Given the description of an element on the screen output the (x, y) to click on. 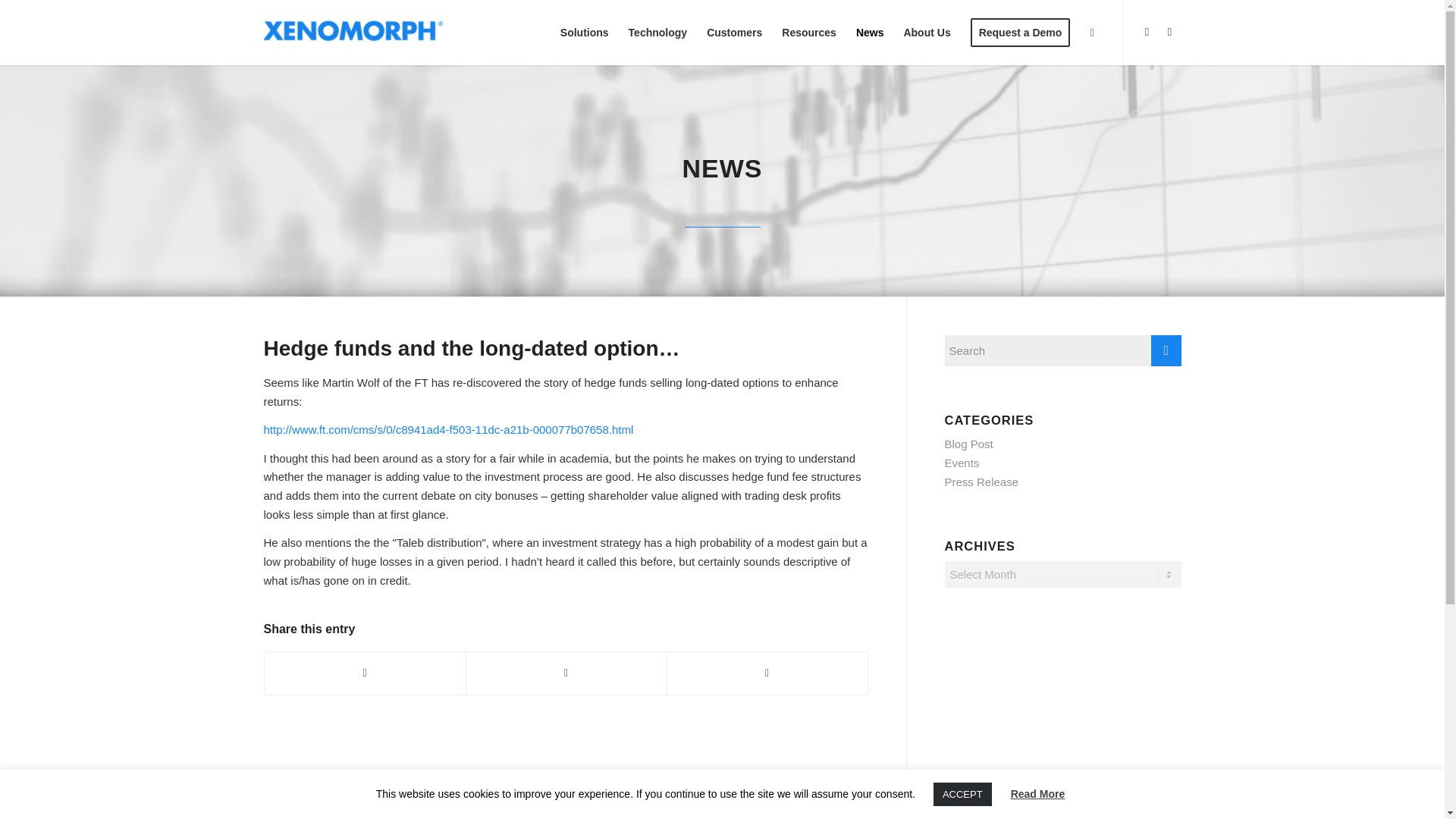
ACCEPT (962, 793)
About Us (926, 32)
Read More (1037, 793)
Technology (657, 32)
Request a Demo (1020, 32)
Press Release (981, 481)
Blog Post (968, 443)
Customers (734, 32)
Resources (808, 32)
LinkedIn (1169, 31)
